Given the description of an element on the screen output the (x, y) to click on. 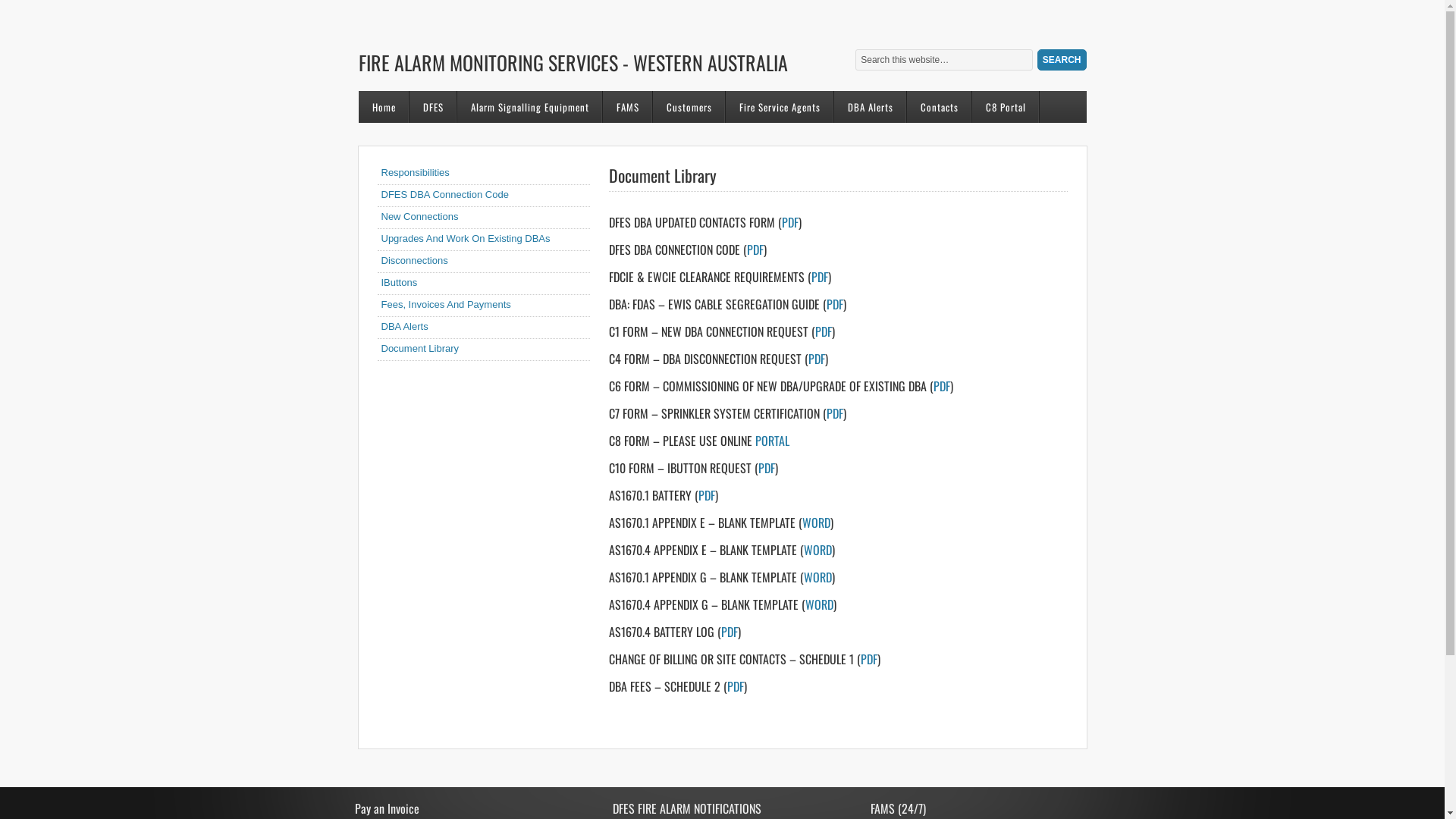
Upgrades And Work On Existing DBAs Element type: text (464, 238)
DBA Alerts Element type: text (403, 326)
WORD Element type: text (817, 549)
IButtons Element type: text (398, 282)
PDF Element type: text (822, 331)
DFES DBA Connection Code Element type: text (444, 194)
PDF Element type: text (754, 249)
Fees, Invoices And Payments Element type: text (445, 304)
Responsibilities Element type: text (414, 172)
C8 Portal Element type: text (1005, 106)
FIRE ALARM MONITORING SERVICES - WESTERN AUSTRALIA Element type: text (603, 52)
Contacts Element type: text (939, 106)
PORTAL Element type: text (772, 440)
PDF Element type: text (734, 686)
WORD Element type: text (816, 522)
Disconnections Element type: text (413, 260)
PDF Element type: text (834, 413)
WORD Element type: text (819, 604)
WORD Element type: text (817, 576)
PDF Element type: text (816, 358)
PDF Element type: text (940, 385)
DBA Alerts Element type: text (870, 106)
PDF Element type: text (819, 276)
DFES Element type: text (433, 106)
PDF Element type: text (705, 495)
PDF Element type: text (867, 658)
Home Element type: text (382, 106)
Search Element type: text (1061, 59)
PDF Element type: text (766, 467)
Document Library Element type: text (419, 348)
PDF Element type: text (789, 222)
New Connections Element type: text (419, 216)
PDF Element type: text (728, 631)
PDF Element type: text (834, 303)
